Given the description of an element on the screen output the (x, y) to click on. 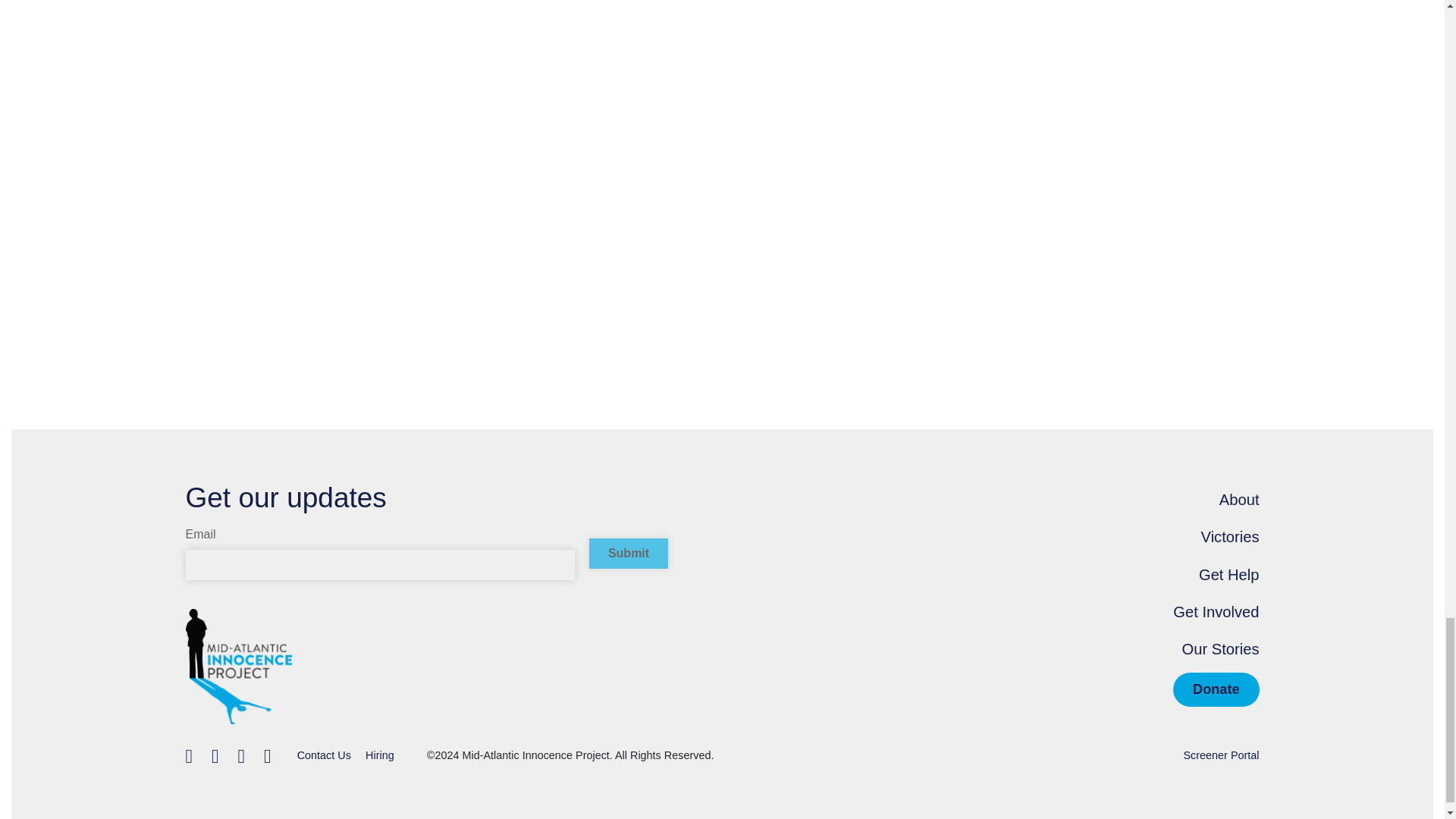
Submit (628, 553)
